Given the description of an element on the screen output the (x, y) to click on. 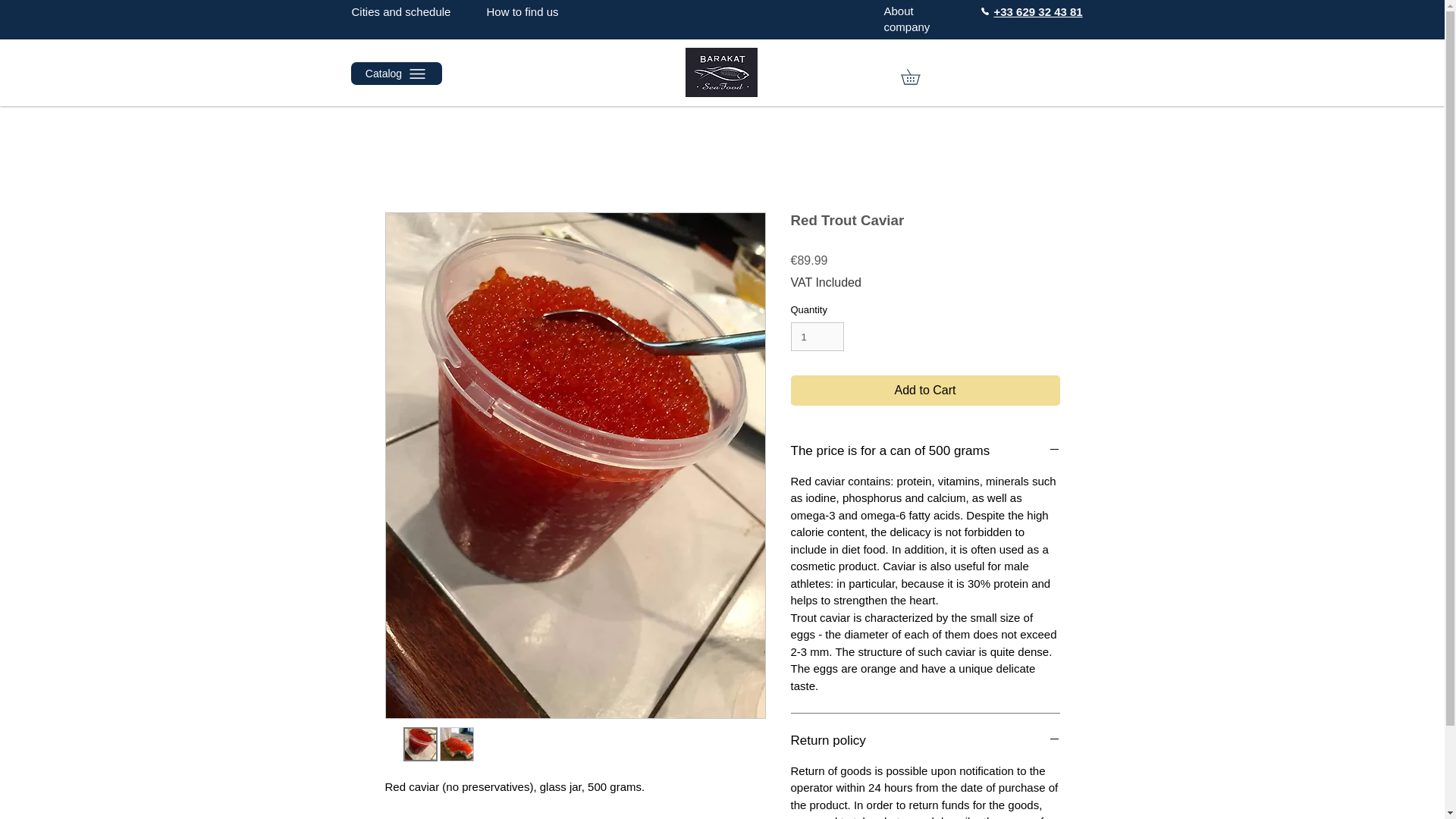
Return policy (924, 741)
How to find us (522, 11)
1 (817, 336)
The price is for a can of 500 grams (924, 451)
Catalog (395, 73)
Cities and schedule (401, 11)
Add to Cart (924, 390)
About company (906, 18)
